Given the description of an element on the screen output the (x, y) to click on. 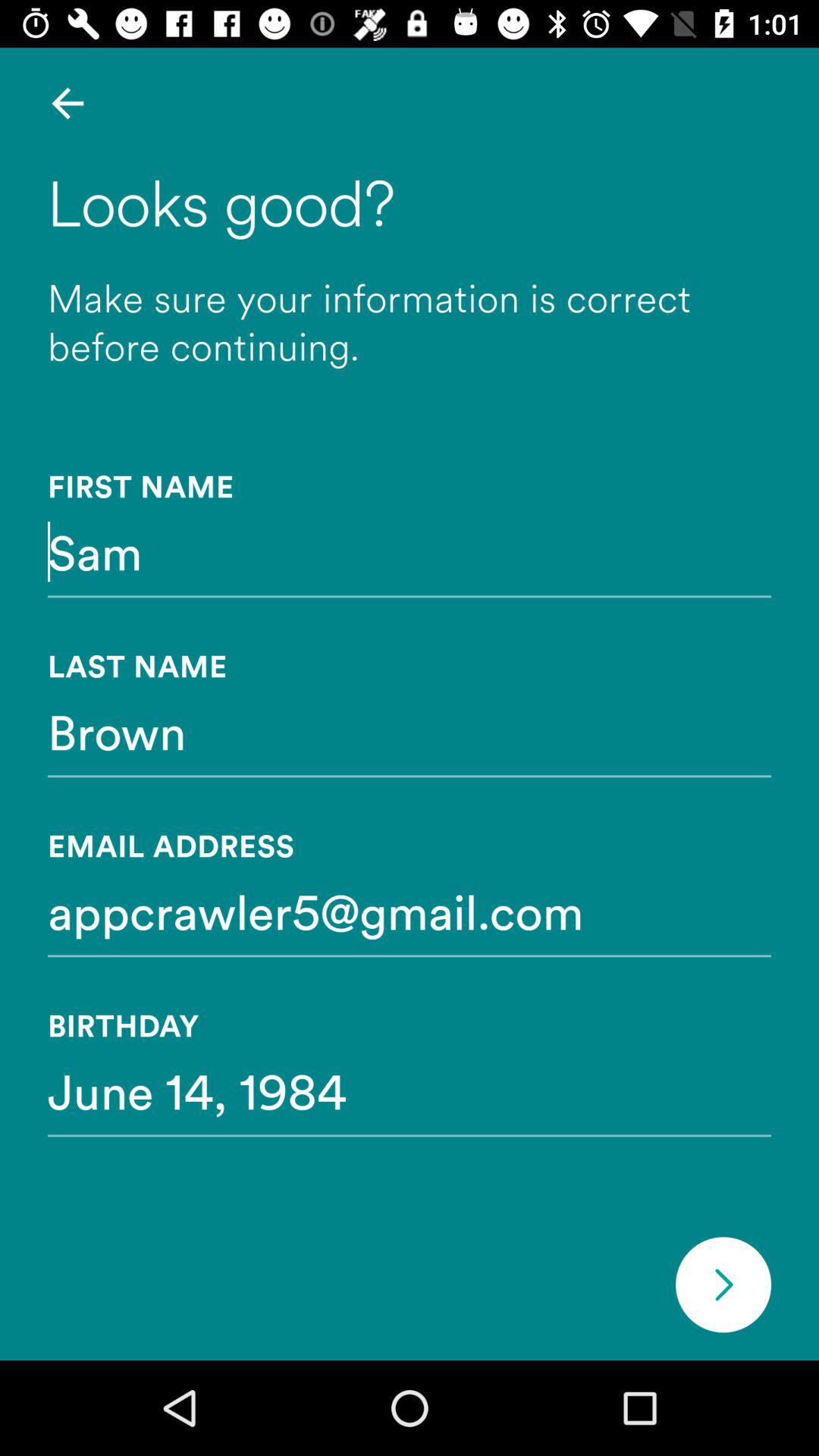
click icon above birthday item (409, 911)
